Given the description of an element on the screen output the (x, y) to click on. 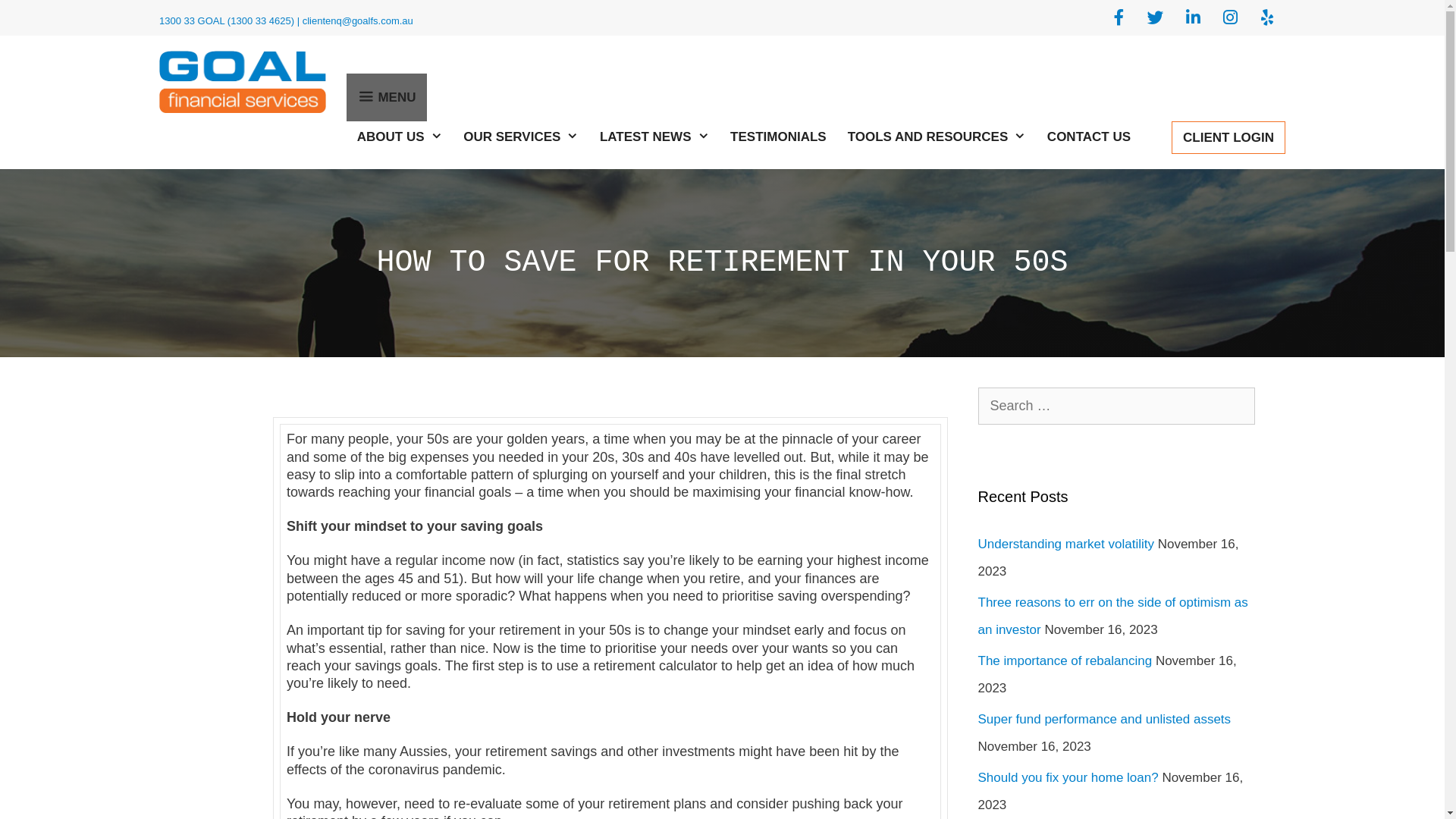
ABOUT US Element type: text (399, 136)
Search Element type: text (37, 18)
Should you fix your home loan? Element type: text (1068, 777)
Super fund performance and unlisted assets Element type: text (1104, 719)
MENU Element type: text (386, 97)
CLIENT LOGIN Element type: text (1228, 137)
Goal Financial Services on Twitter Element type: hover (1155, 17)
OUR SERVICES Element type: text (520, 136)
TESTIMONIALS Element type: text (778, 136)
Three reasons to err on the side of optimism as an investor Element type: text (1113, 616)
CONTACT US Element type: text (1088, 136)
Goal Financial Services on Linkedin Element type: hover (1192, 17)
LATEST NEWS Element type: text (654, 136)
Goal Financial Services on Instagram Element type: hover (1230, 17)
clientenq@goalfs.com.au Element type: text (357, 20)
Goal Financial Services on Facebook Element type: hover (1118, 17)
The importance of rebalancing Element type: text (1065, 660)
TOOLS AND RESOURCES Element type: text (936, 136)
Search for: Element type: hover (1116, 405)
Goal Financial Services on Yelp Element type: hover (1267, 17)
Understanding market volatility Element type: text (1066, 543)
